Given the description of an element on the screen output the (x, y) to click on. 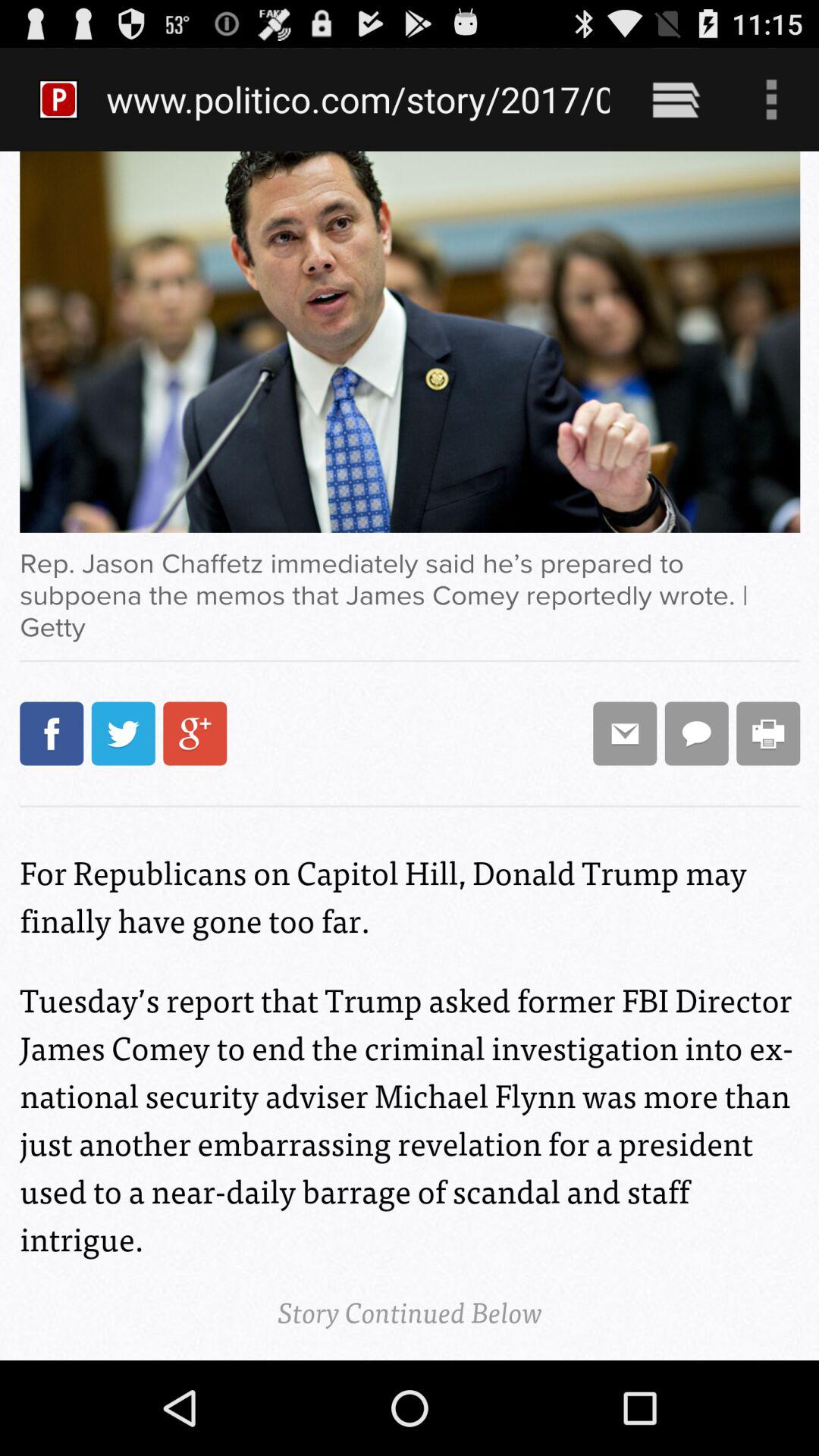
select the www politico com icon (357, 99)
